Given the description of an element on the screen output the (x, y) to click on. 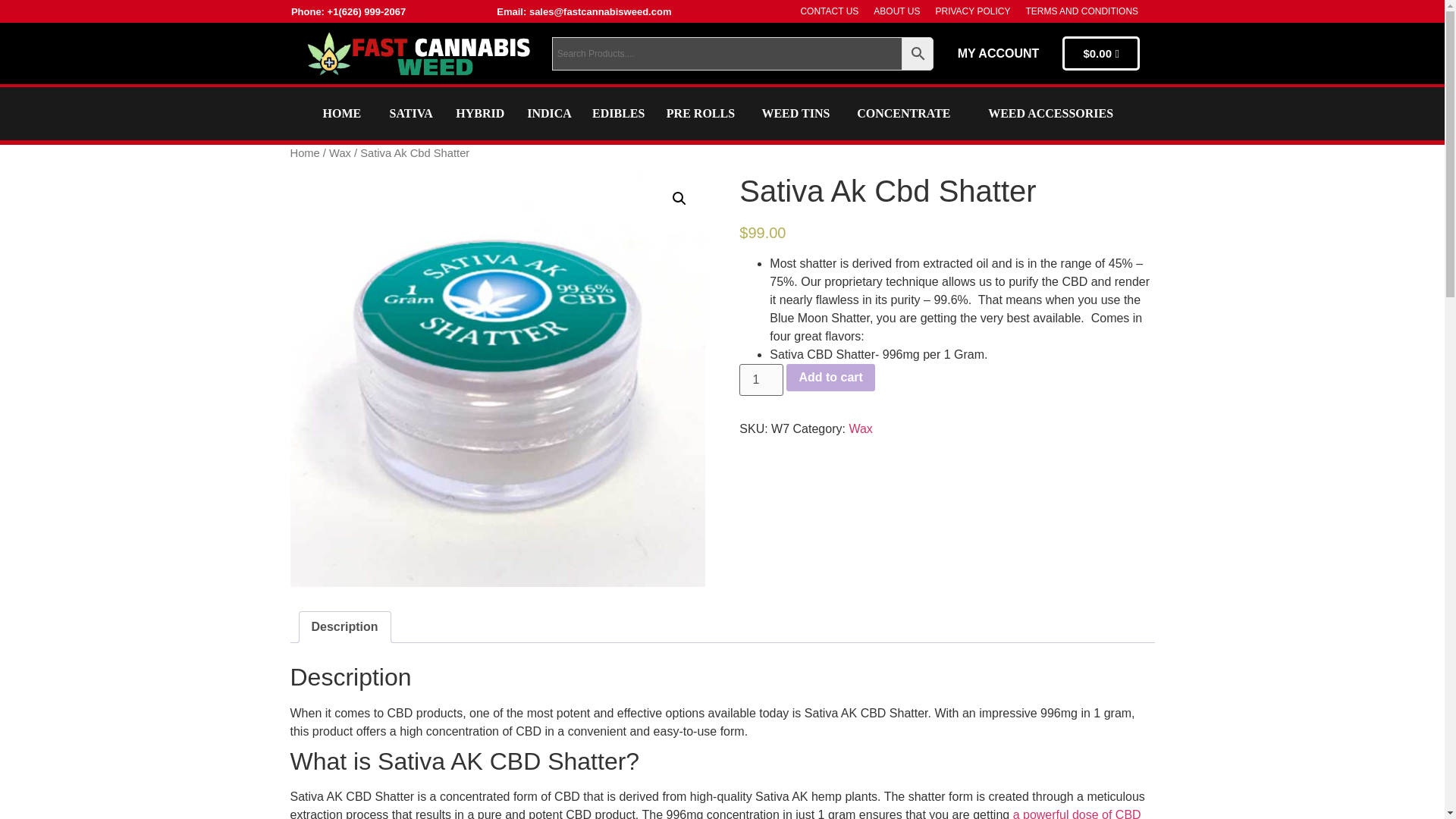
1 (761, 379)
Add to cart (830, 377)
PRE ROLLS (700, 113)
Wax (339, 152)
CONTACT US (829, 10)
MY ACCOUNT (998, 52)
HYBRID (479, 113)
ABOUT US (896, 10)
HOME (342, 113)
INDICA (549, 113)
Home (303, 152)
CONCENTRATE (903, 113)
TERMS AND CONDITIONS (1081, 10)
WEED TINS (795, 113)
